Given the description of an element on the screen output the (x, y) to click on. 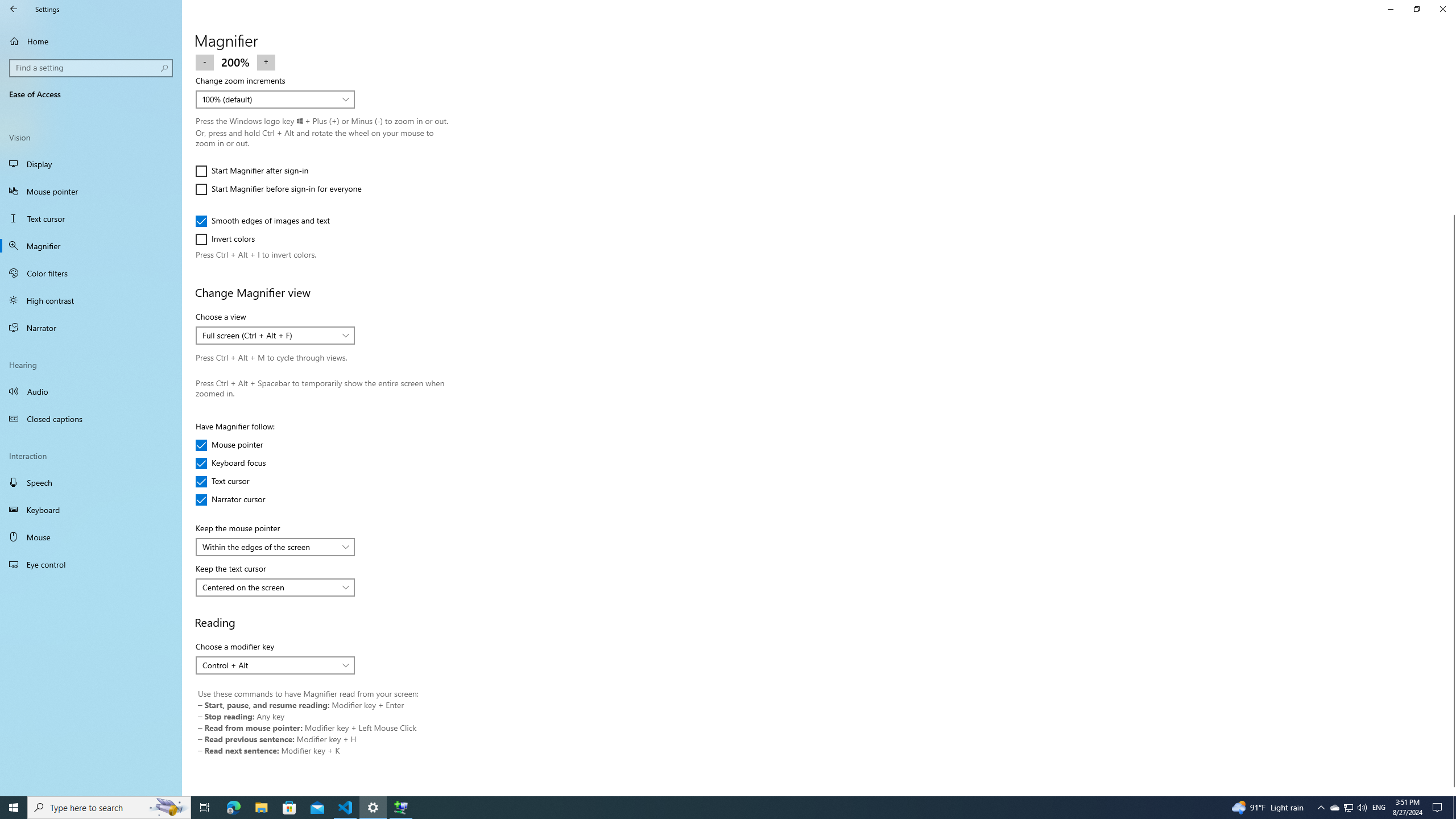
Text cursor (229, 481)
Keyboard focus (230, 463)
Mouse pointer (91, 190)
Centered on the screen (269, 586)
Closed captions (91, 418)
Magnifier (91, 245)
Start Magnifier after sign-in (251, 171)
Mouse (91, 536)
Zoom out (204, 61)
Speech (91, 482)
Vertical Large Decrease (1451, 138)
